Given the description of an element on the screen output the (x, y) to click on. 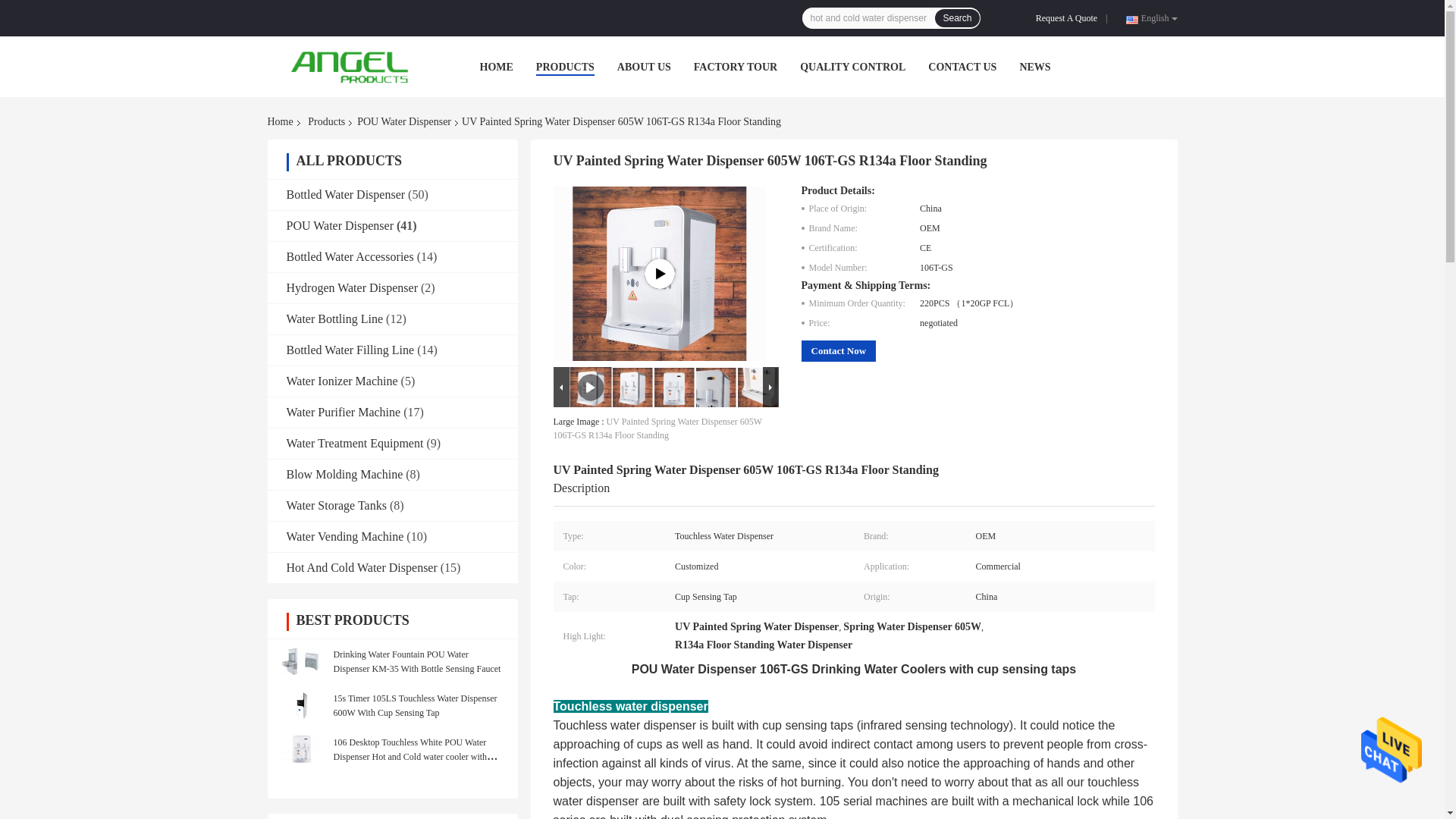
PRODUCTS (564, 66)
Products (325, 121)
CONTACT US (961, 66)
NEWS (1034, 66)
Home (282, 121)
Bottled Water Dispenser (346, 194)
QUALITY CONTROL (852, 66)
Water Bottling Line (335, 318)
POU Water Dispenser (403, 121)
Bottled Water Accessories (349, 256)
ABOUT US (644, 66)
Search (956, 18)
Hydrogen Water Dispenser (351, 287)
Request A Quote (1069, 18)
HOME (495, 66)
